Given the description of an element on the screen output the (x, y) to click on. 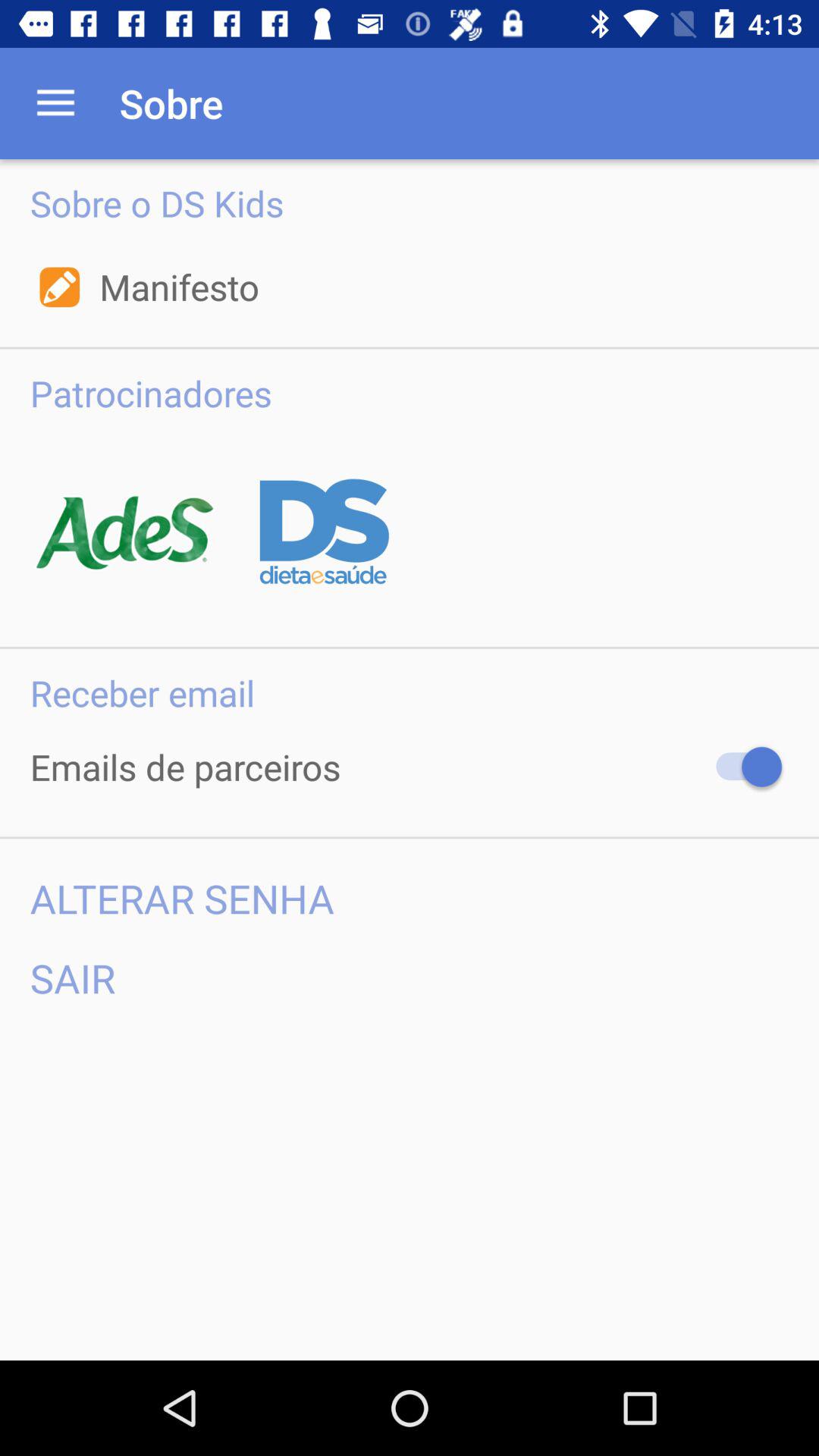
turn on item to the right of the emails de parceiros (741, 766)
